Given the description of an element on the screen output the (x, y) to click on. 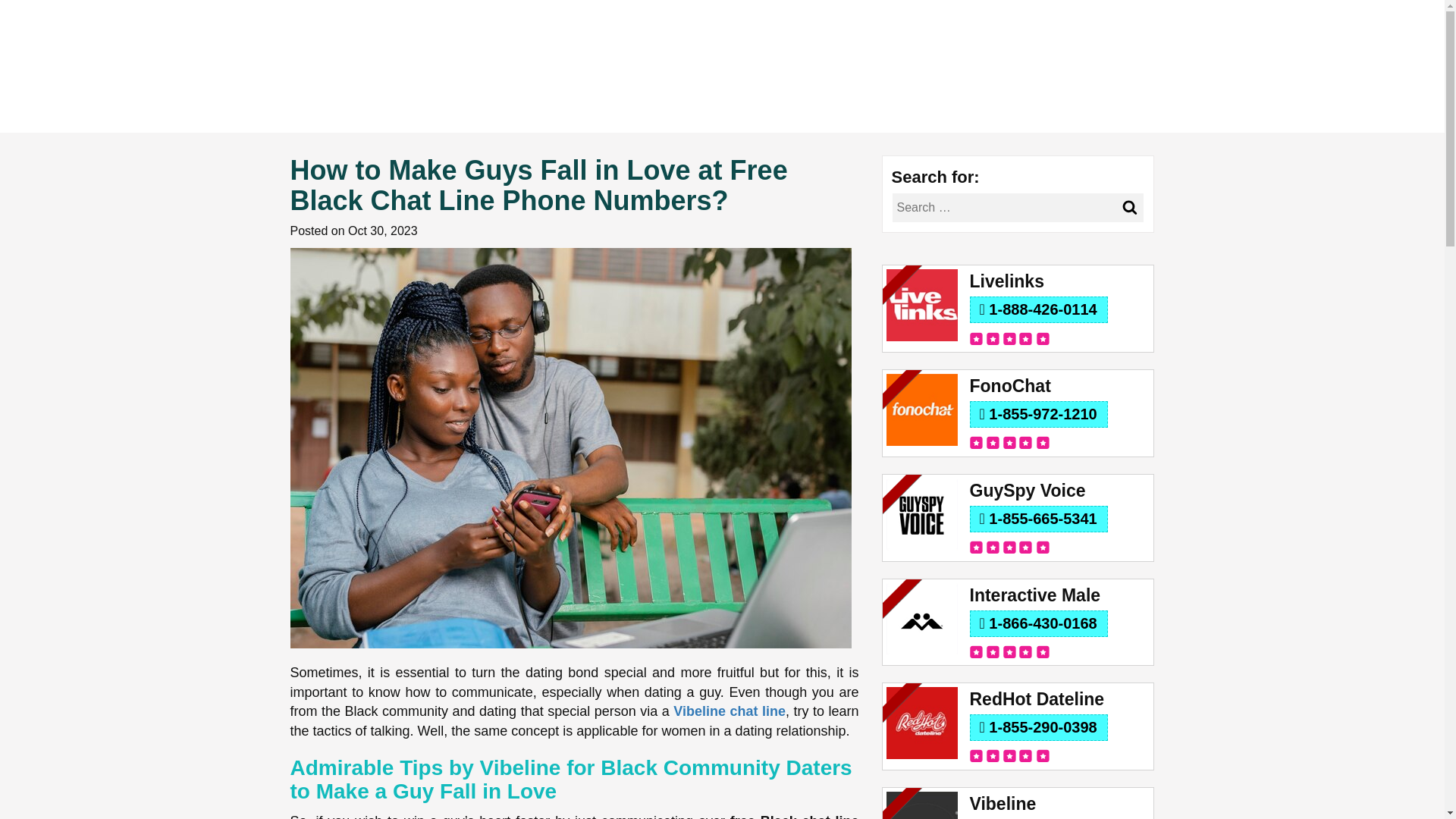
1-888-426-0114 (1037, 309)
FonoChat (1059, 385)
1-855-665-5341 (1037, 519)
Interactive Male (1059, 595)
Vibeline chat line (729, 711)
Livelinks (1059, 281)
1-866-430-0168 (1037, 623)
1-855-972-1210 (1037, 414)
GuySpy Voice (1059, 490)
